Given the description of an element on the screen output the (x, y) to click on. 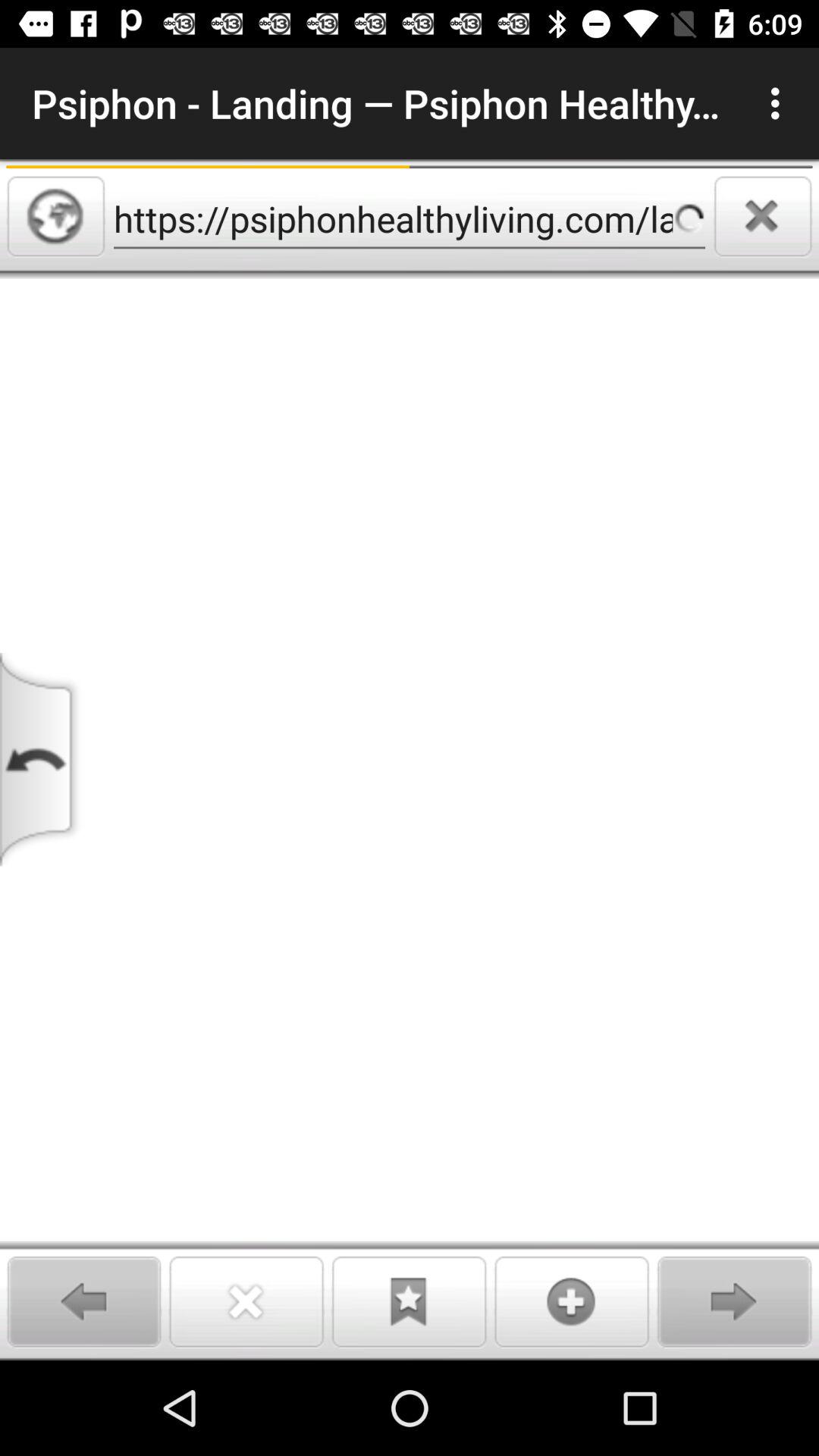
open new page (571, 1301)
